Given the description of an element on the screen output the (x, y) to click on. 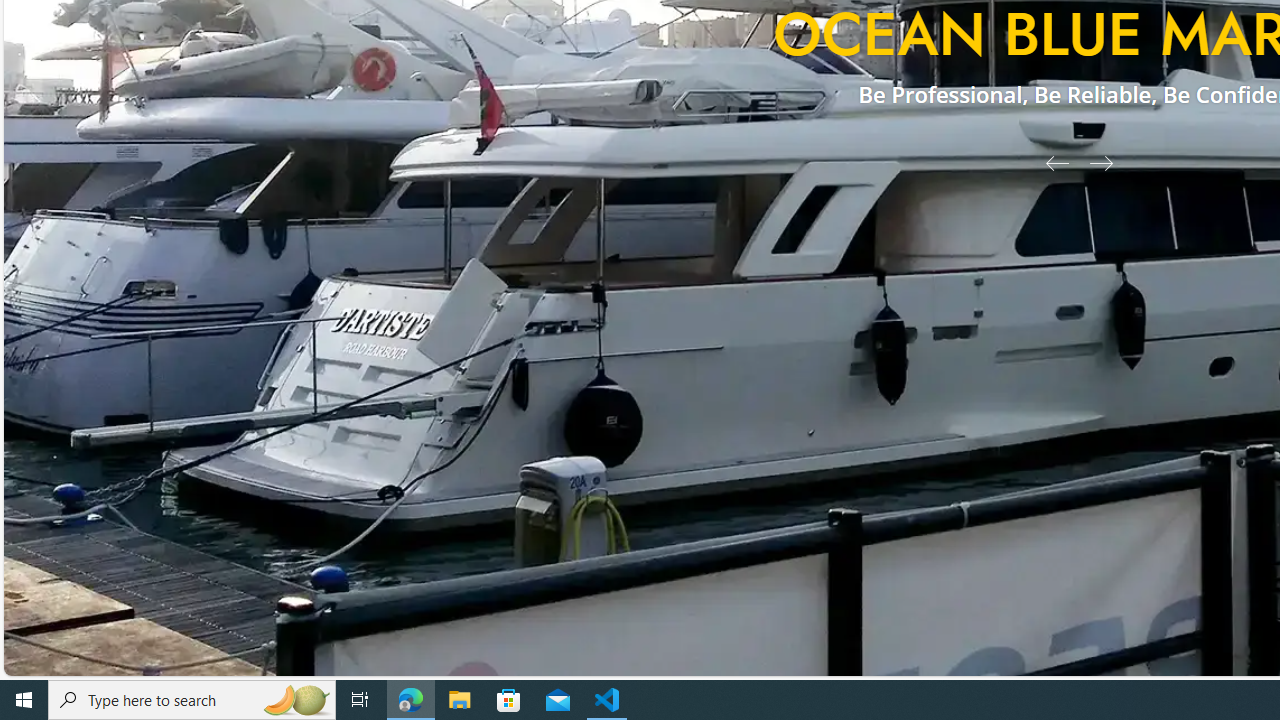
Previous Slide (1050, 161)
Next Slide (1108, 161)
